Given the description of an element on the screen output the (x, y) to click on. 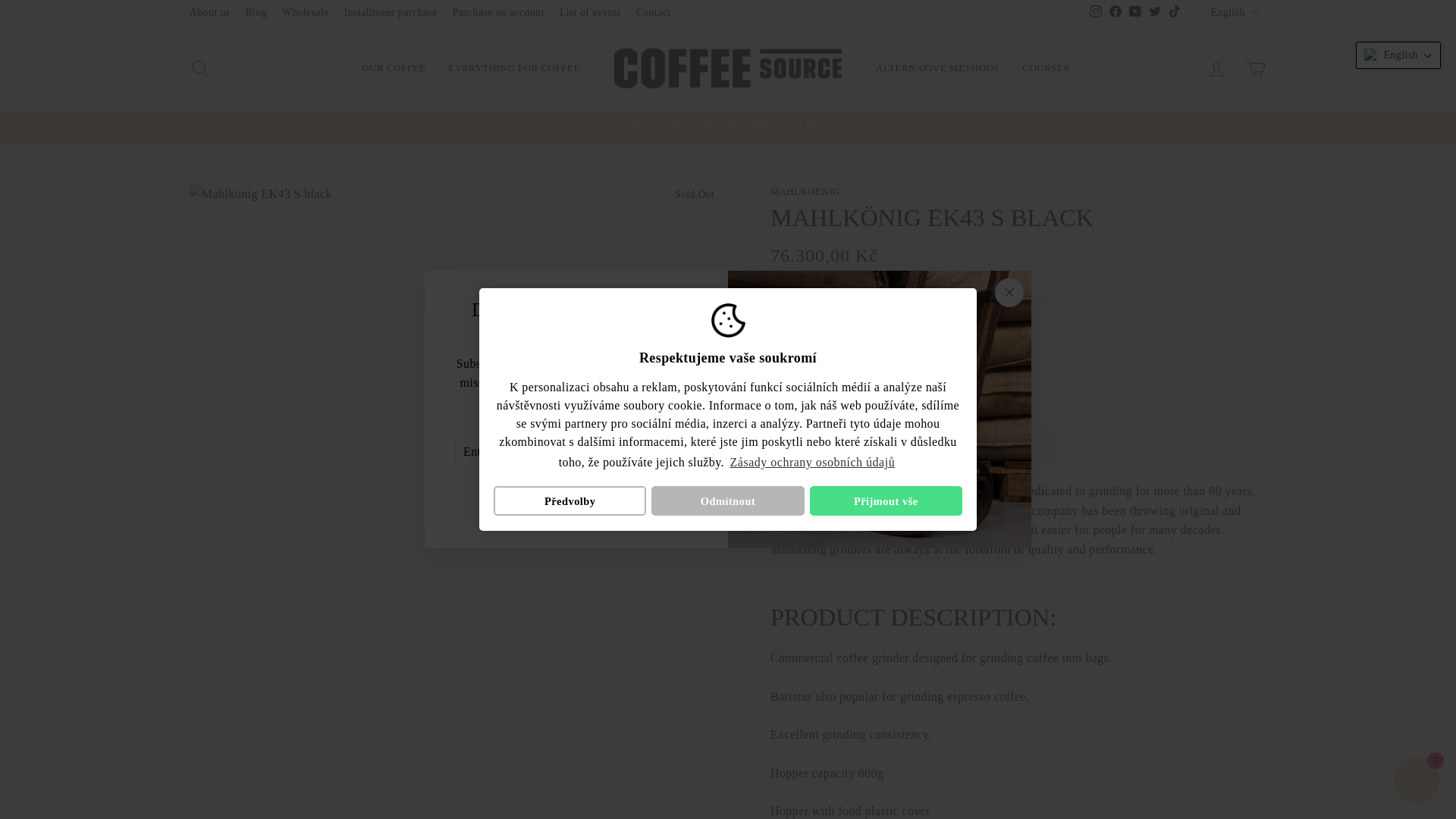
1 (800, 356)
Mahlkoenig (805, 191)
